Given the description of an element on the screen output the (x, y) to click on. 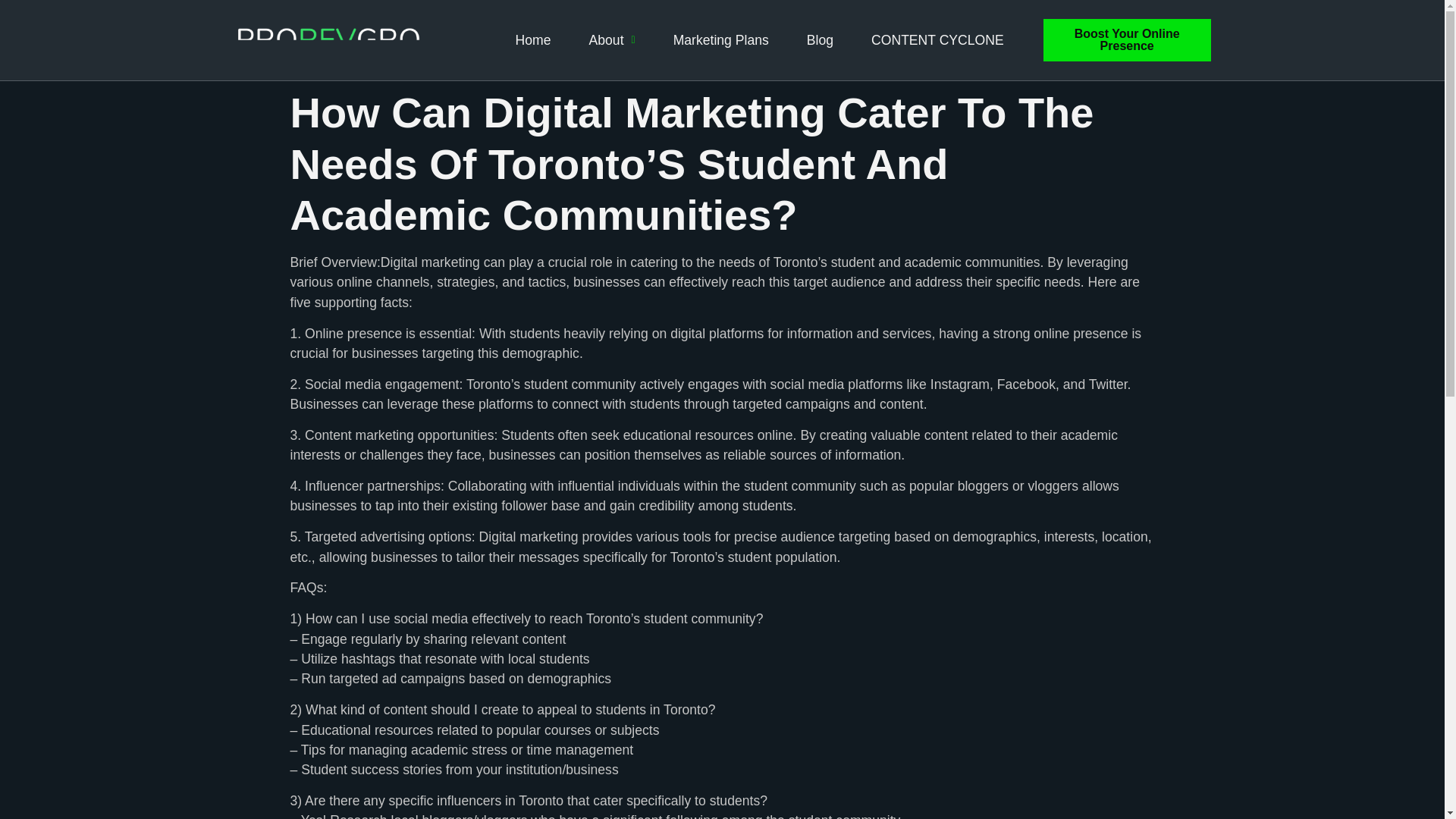
Marketing Plans (720, 39)
CONTENT CYCLONE (937, 39)
About (606, 39)
Boost Your Online Presence (1127, 39)
Home (533, 39)
Blog (819, 39)
